Given the description of an element on the screen output the (x, y) to click on. 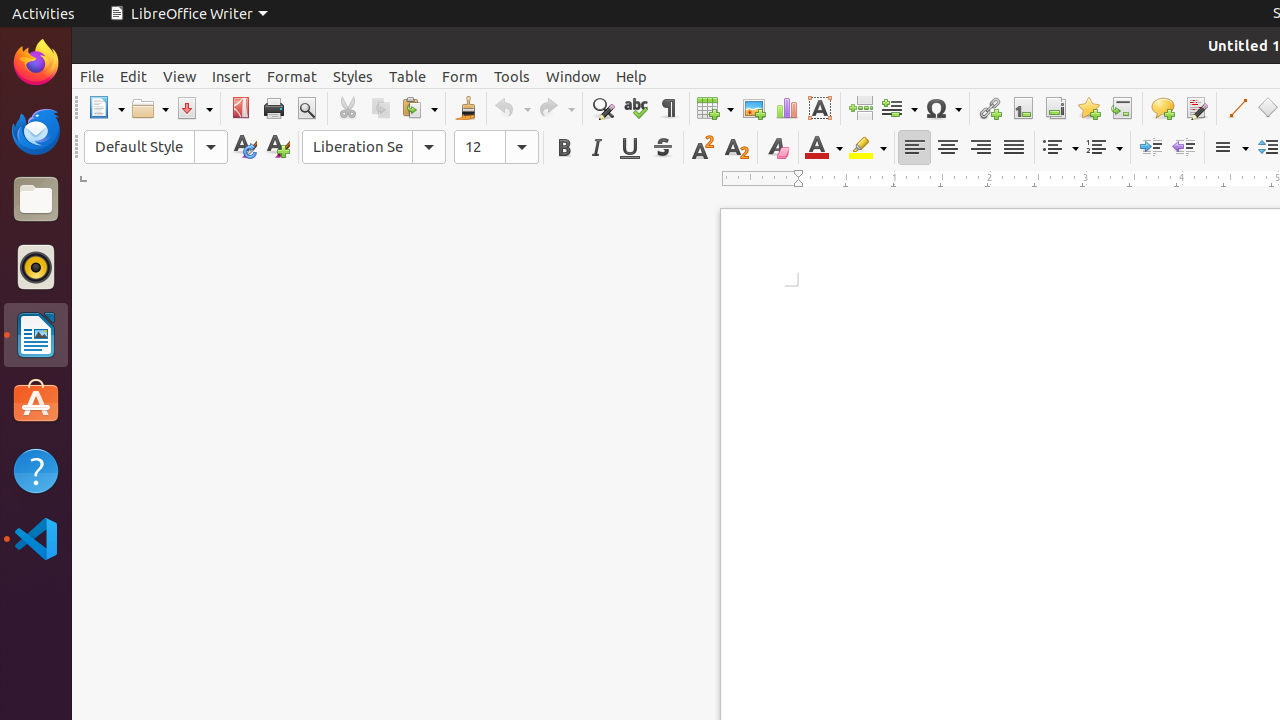
Center Element type: toggle-button (947, 147)
Open Element type: push-button (150, 108)
LibreOffice Writer Element type: push-button (36, 334)
Cut Element type: push-button (347, 108)
Font Name Element type: combo-box (374, 147)
